Given the description of an element on the screen output the (x, y) to click on. 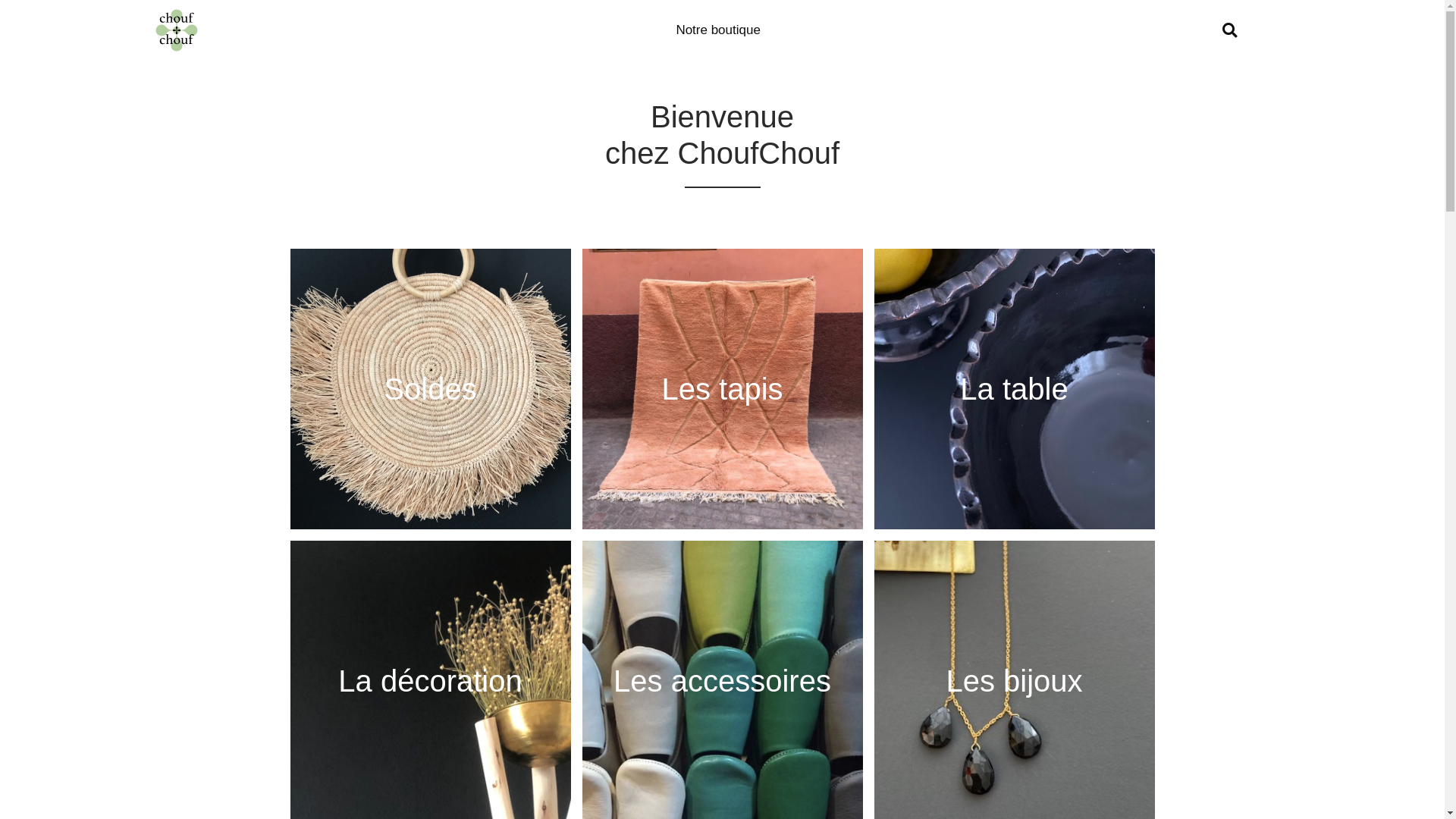
Notre boutique Element type: text (717, 30)
Les tapis Element type: text (722, 388)
Soldes Element type: text (429, 388)
La table Element type: text (1013, 388)
